Given the description of an element on the screen output the (x, y) to click on. 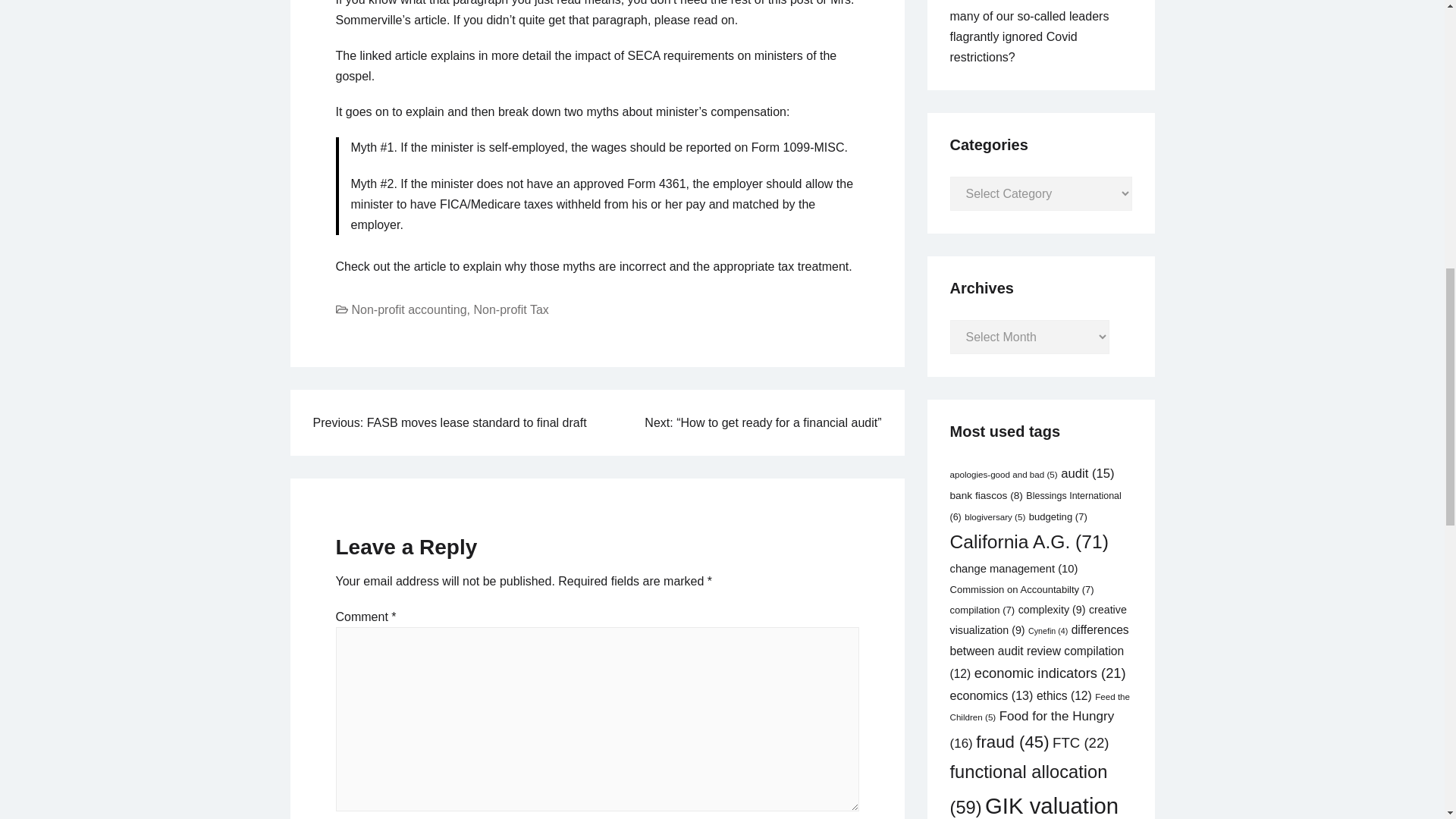
Previous: FASB moves lease standard to final draft (449, 422)
Non-profit accounting (409, 309)
Non-profit Tax (510, 309)
